Given the description of an element on the screen output the (x, y) to click on. 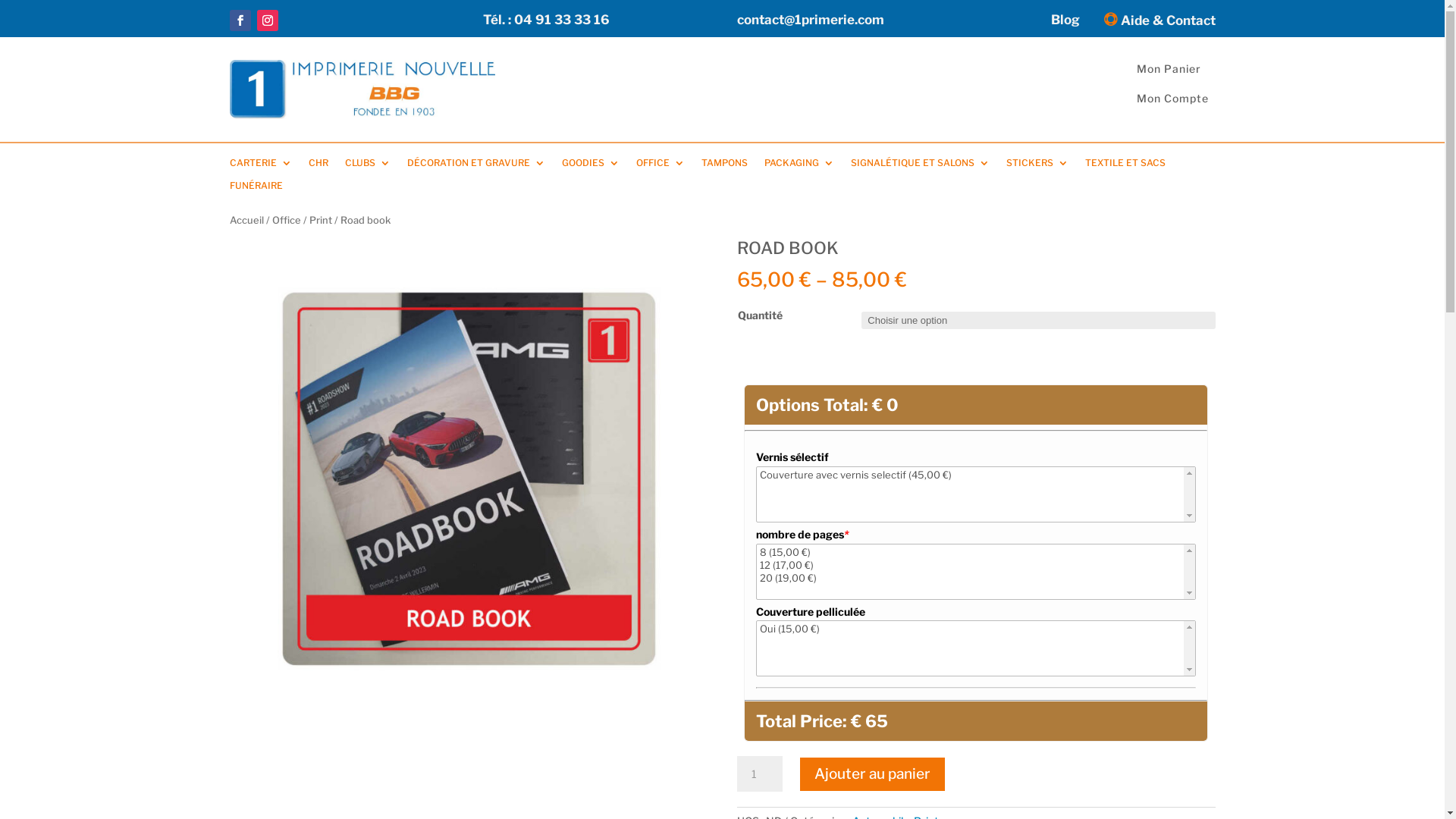
Mon Compte Element type: text (1172, 97)
TAMPONS Element type: text (723, 165)
CARTERIE Element type: text (260, 165)
Aide & Contact Element type: text (1155, 22)
CLUBS Element type: text (366, 165)
OFFICE Element type: text (659, 165)
Suivez sur Instagram Element type: hover (266, 20)
STICKERS Element type: text (1036, 165)
Ajouter au panier Element type: text (872, 773)
Office Element type: text (285, 219)
TEXTILE ET SACS Element type: text (1124, 165)
Accueil Element type: text (246, 219)
Blog Element type: text (1065, 22)
road book Element type: hover (516, 526)
GOODIES Element type: text (589, 165)
Print Element type: text (320, 219)
PACKAGING Element type: text (799, 165)
900X200 Element type: hover (361, 89)
Mon Panier Element type: text (1168, 68)
Suivez sur Facebook Element type: hover (239, 20)
CHR Element type: text (317, 165)
